Given the description of an element on the screen output the (x, y) to click on. 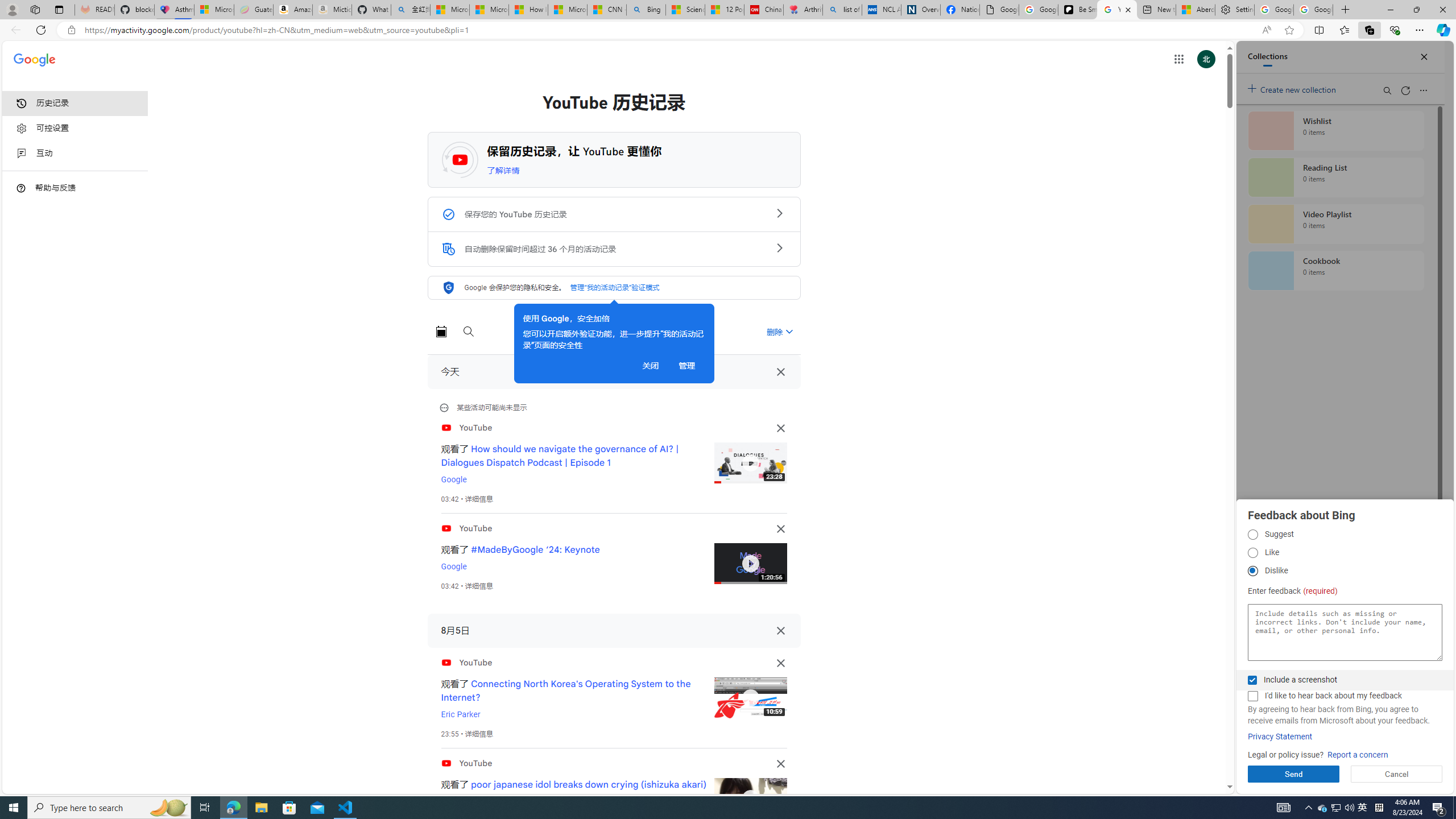
Like Like (1252, 552)
AutomationID: fbpgdgtp3 (1252, 570)
Class: DI7Mnf NMm5M (780, 630)
Report a concern (1358, 755)
Class: k1qAtf NMm5M (448, 248)
Class: gD71Gb NMm5M hhikbc (778, 247)
